Given the description of an element on the screen output the (x, y) to click on. 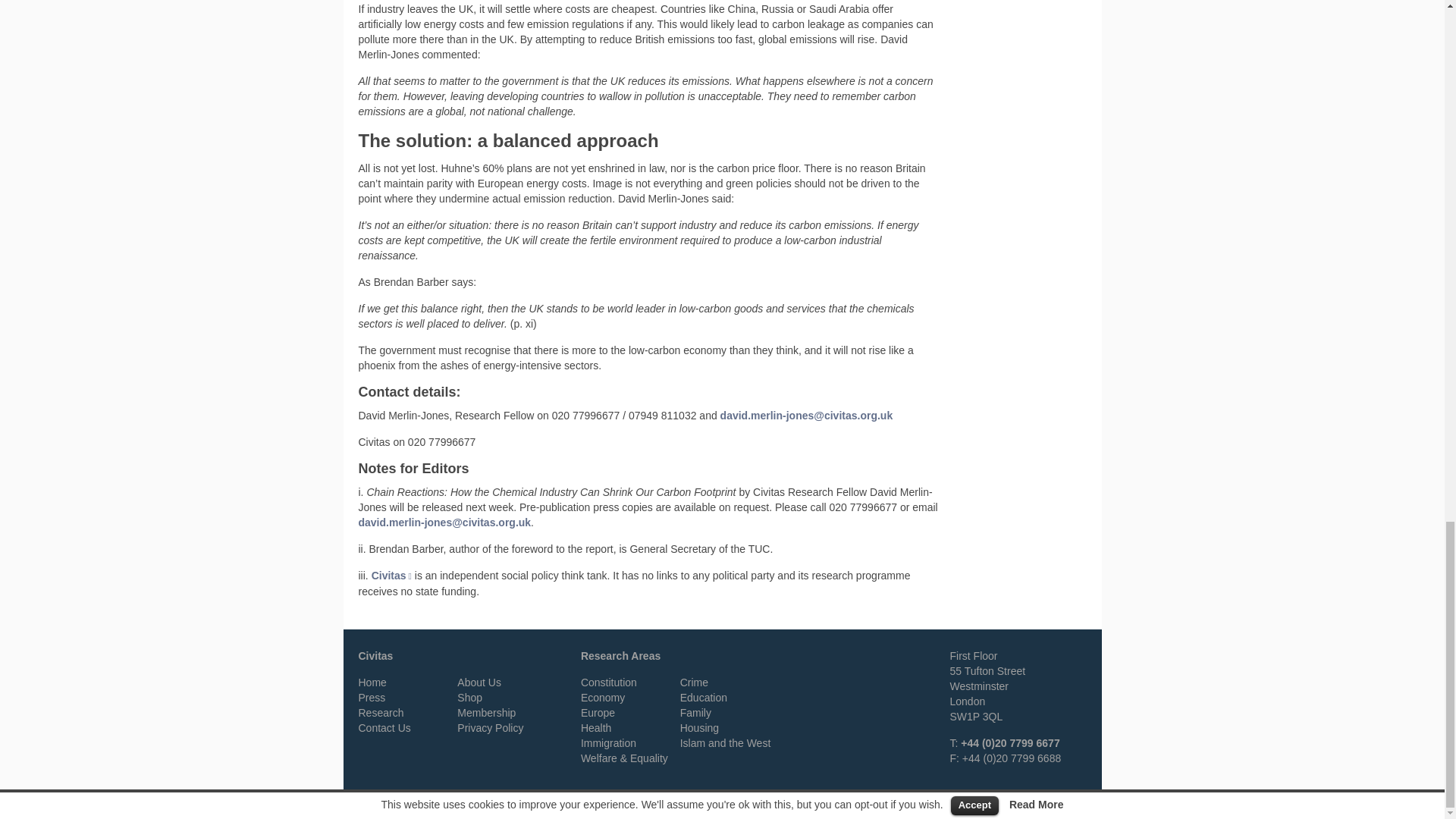
Membership (486, 712)
Constitution (608, 682)
Shop (469, 697)
Home (371, 682)
Privacy Policy (489, 727)
About Us (478, 682)
Housing (699, 727)
Research (380, 712)
Family (695, 712)
Health (595, 727)
Civitas (391, 575)
Europe (597, 712)
Education (702, 697)
Contact Us (384, 727)
Crime (693, 682)
